Given the description of an element on the screen output the (x, y) to click on. 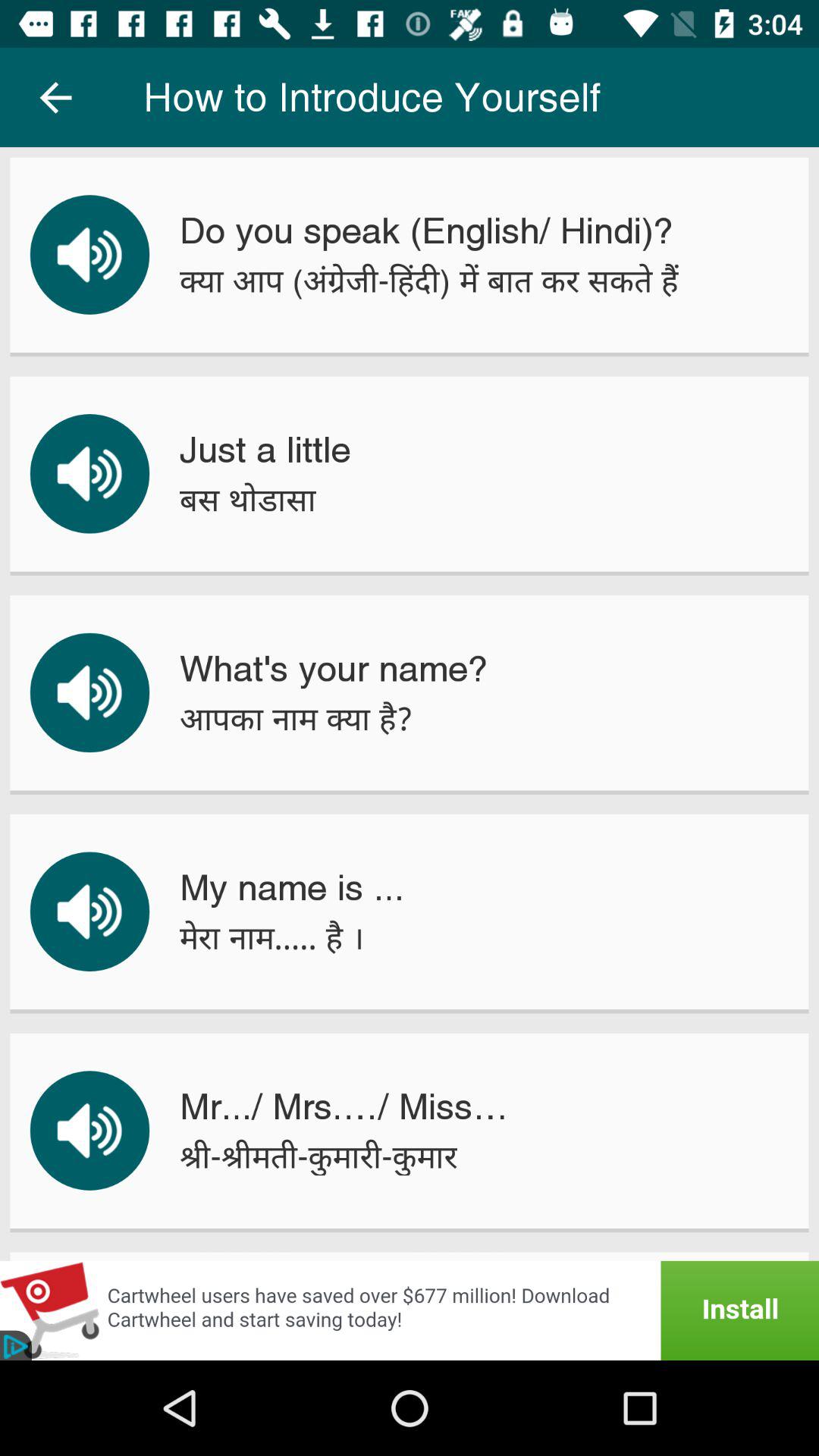
tap icon above what s your icon (247, 499)
